Given the description of an element on the screen output the (x, y) to click on. 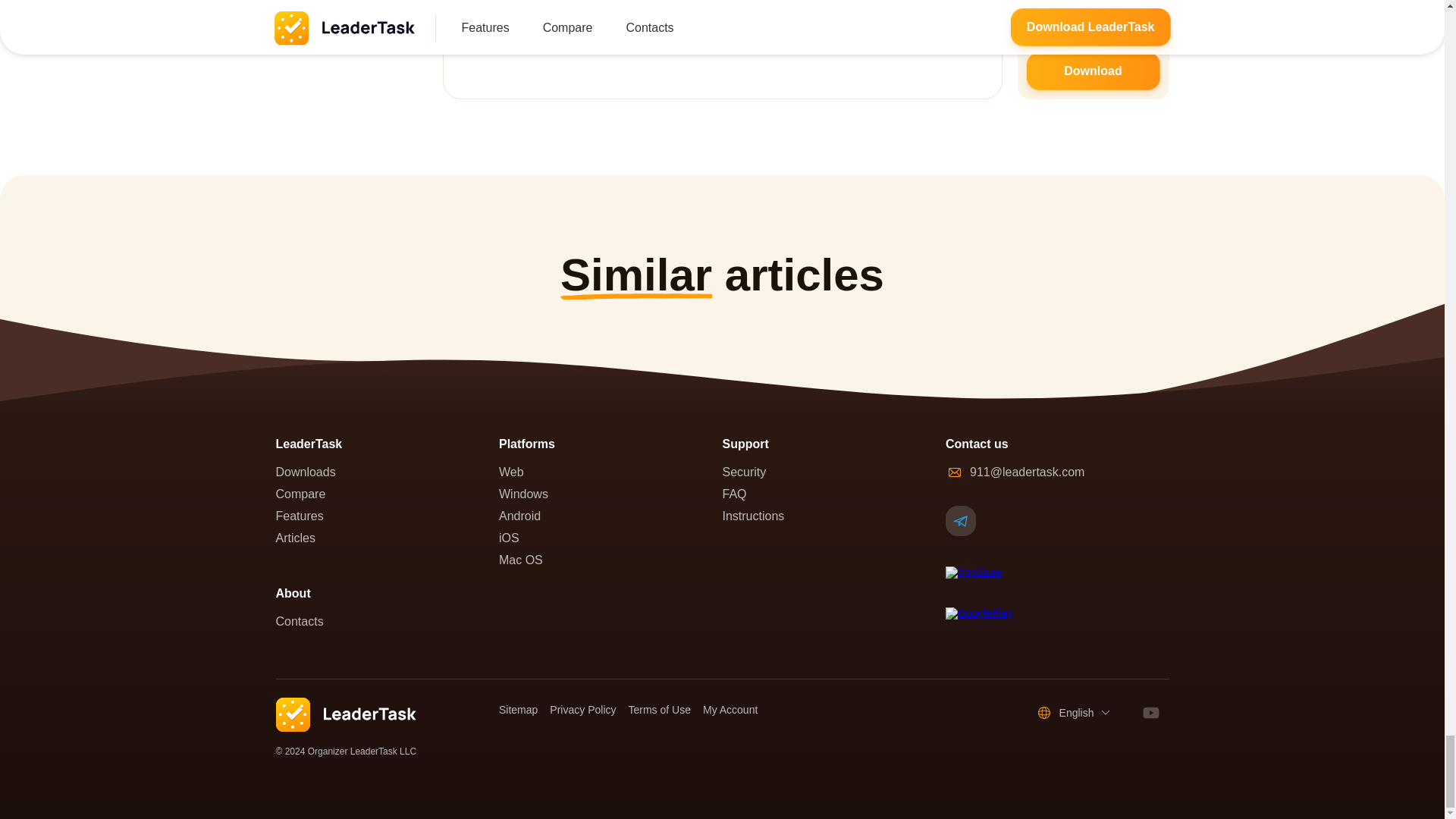
Windows (610, 494)
Web (610, 471)
FAQ (833, 494)
Compare (387, 494)
Android (610, 515)
iOS (610, 537)
Downloads (387, 471)
Mac OS (610, 560)
Features (387, 515)
Security (833, 471)
Instructions (833, 515)
Articles (387, 537)
